Given the description of an element on the screen output the (x, y) to click on. 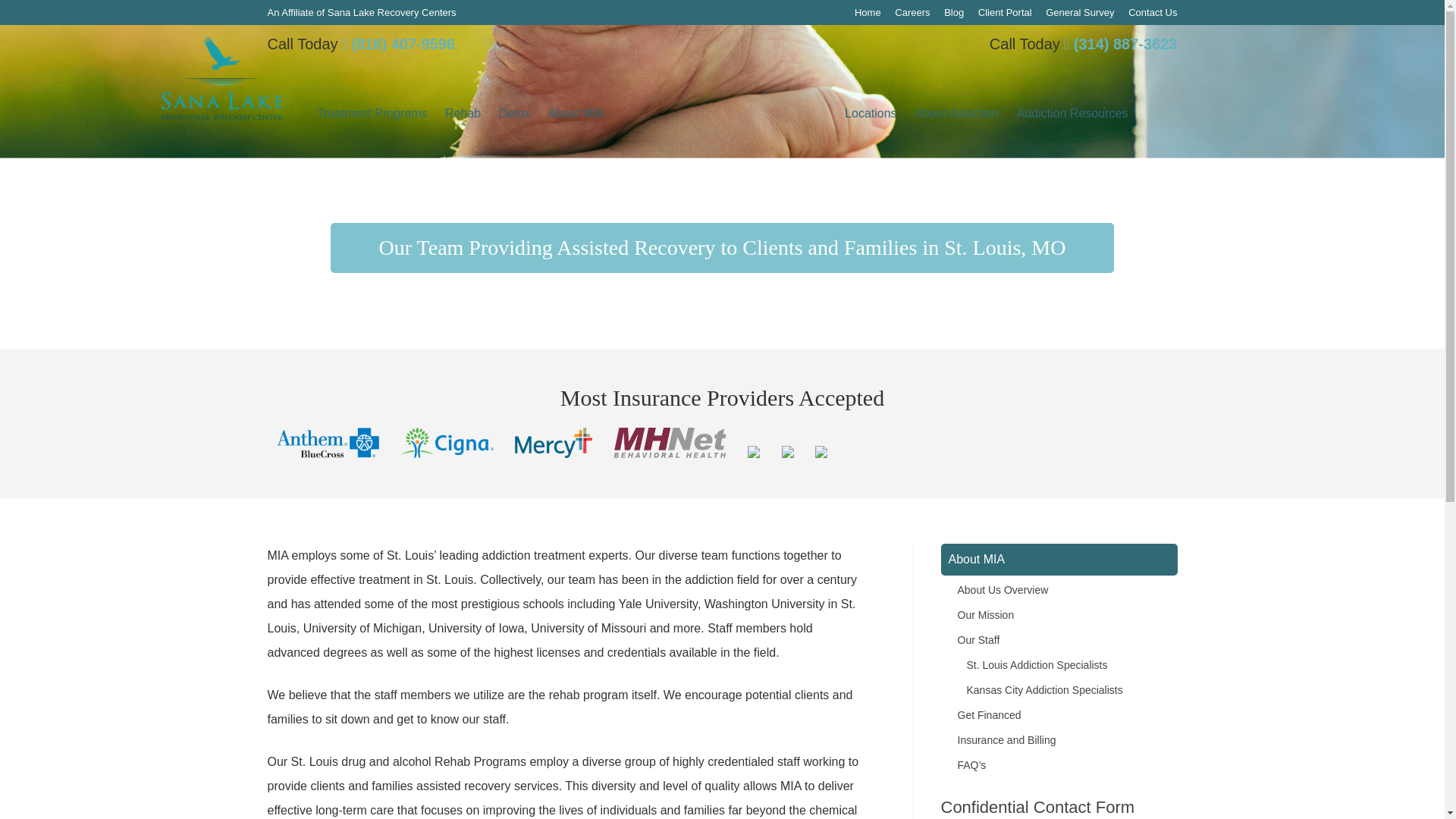
Home (867, 12)
Blog (953, 12)
Client Portal (1005, 12)
Contact Us (1152, 12)
Careers (912, 12)
General Survey (1079, 12)
